Given the description of an element on the screen output the (x, y) to click on. 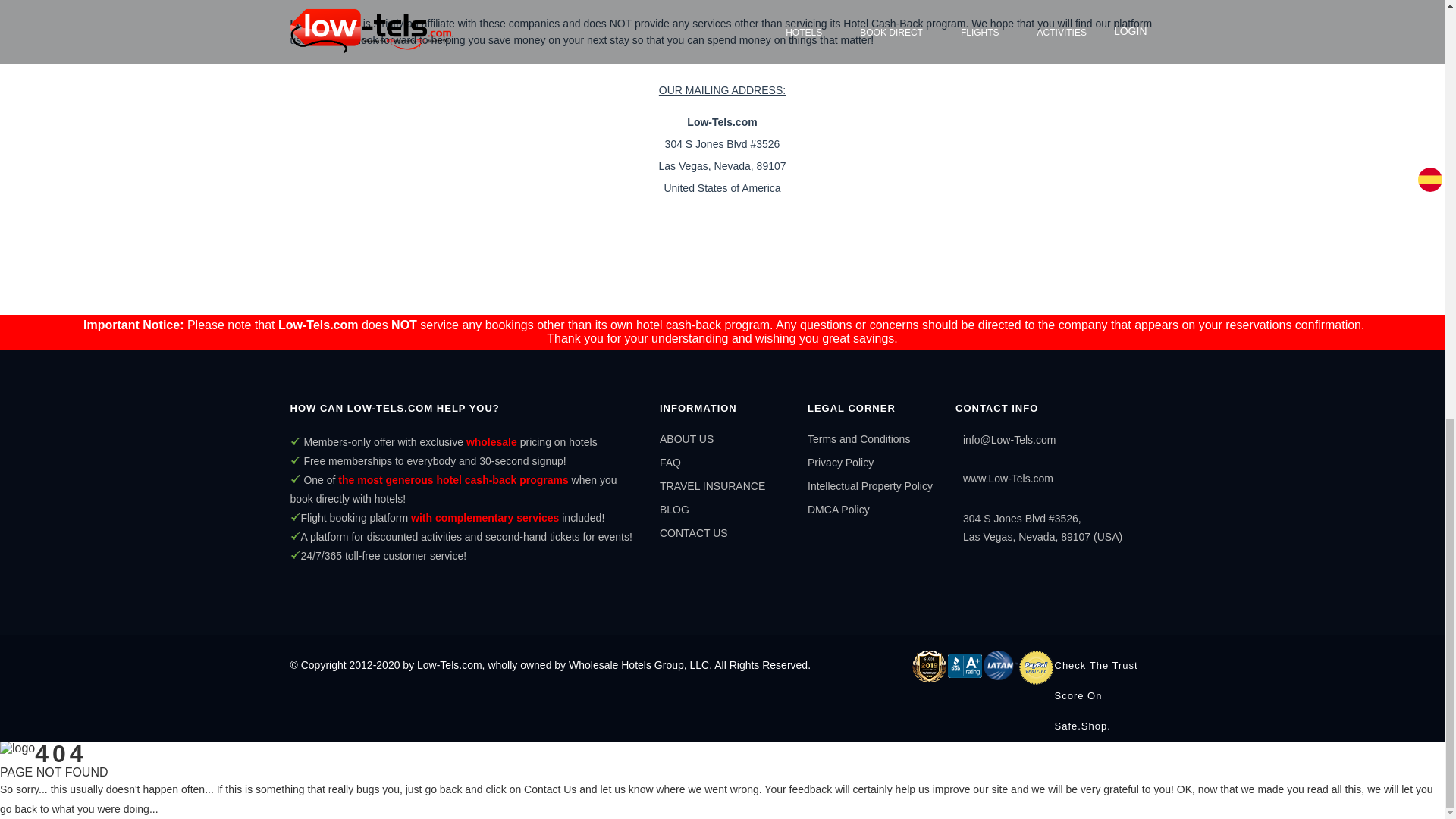
Terms and Conditions (859, 439)
www.Low-Tels.com (1007, 478)
CONTACT US (693, 532)
ABOUT US (686, 439)
BLOG (673, 509)
DMCA Policy (838, 509)
FAQ (670, 462)
Intellectual Property Policy (870, 485)
Check The Trust Score On Safe.Shop. (1104, 696)
Privacy Policy (840, 462)
TRAVEL INSURANCE (712, 485)
